Given the description of an element on the screen output the (x, y) to click on. 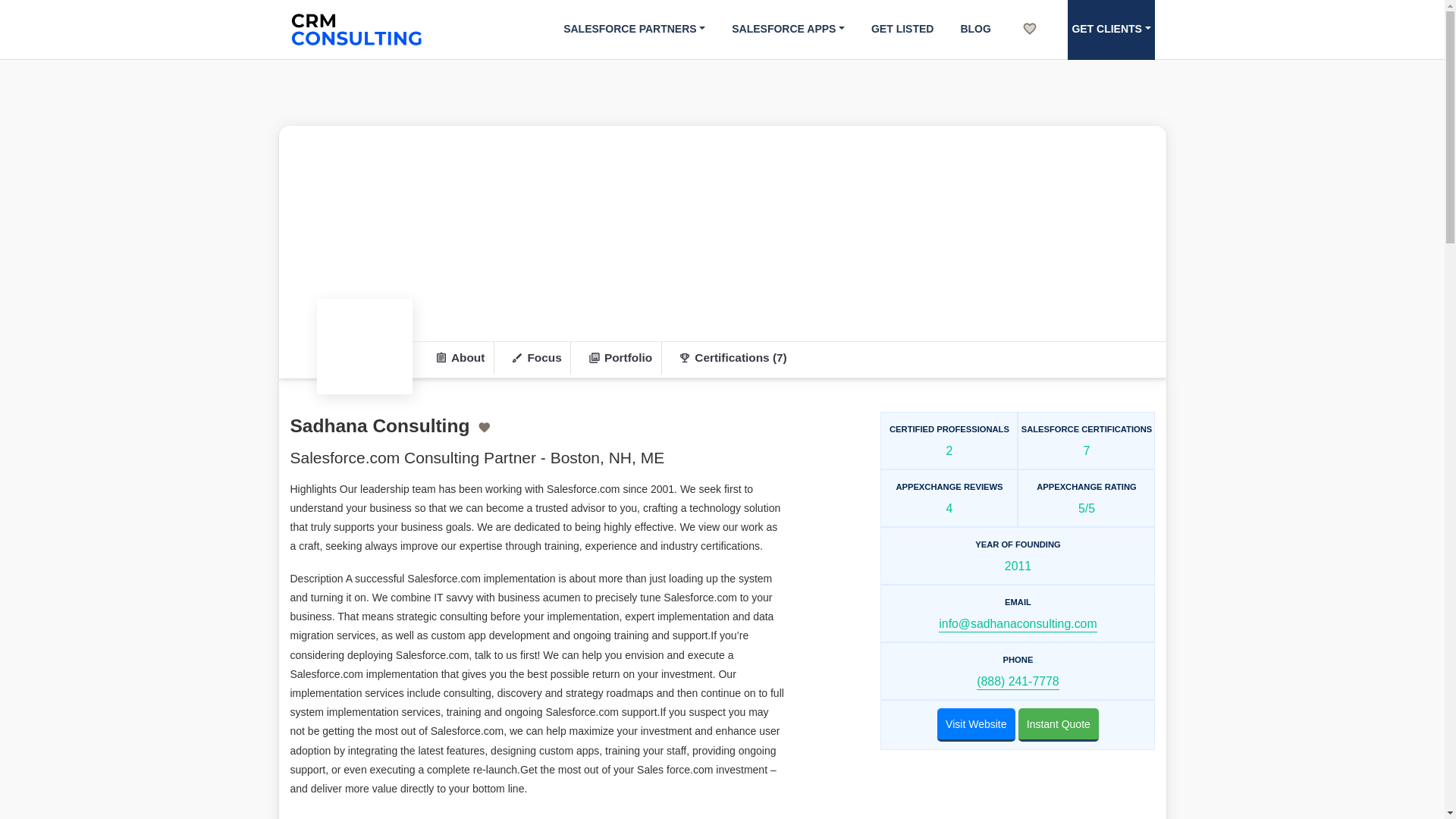
SALESFORCE PARTNERS (633, 29)
